Given the description of an element on the screen output the (x, y) to click on. 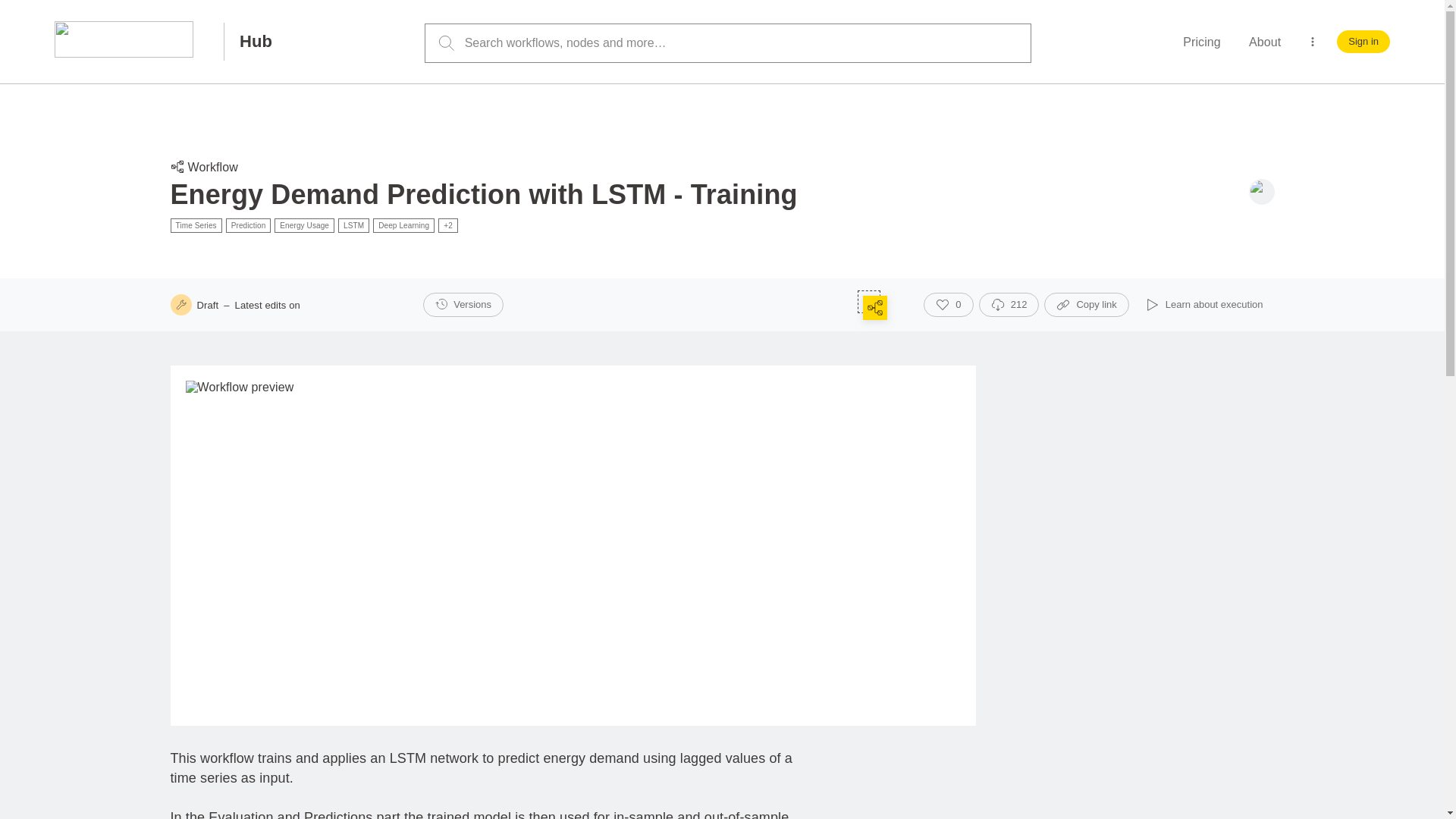
KNIME Community Hub home page (251, 41)
Sign in (1363, 41)
Learn about execution (1204, 304)
Time Series (195, 225)
Search (446, 43)
212 (1008, 304)
LSTM (353, 225)
Space owner: etayaa (1260, 191)
Versions (463, 304)
Deep Learning (402, 225)
More KNIME (1312, 41)
Pricing for KNIME Community Hub (1201, 42)
Hub (251, 41)
Energy Usage (304, 225)
Pricing (1201, 42)
